Given the description of an element on the screen output the (x, y) to click on. 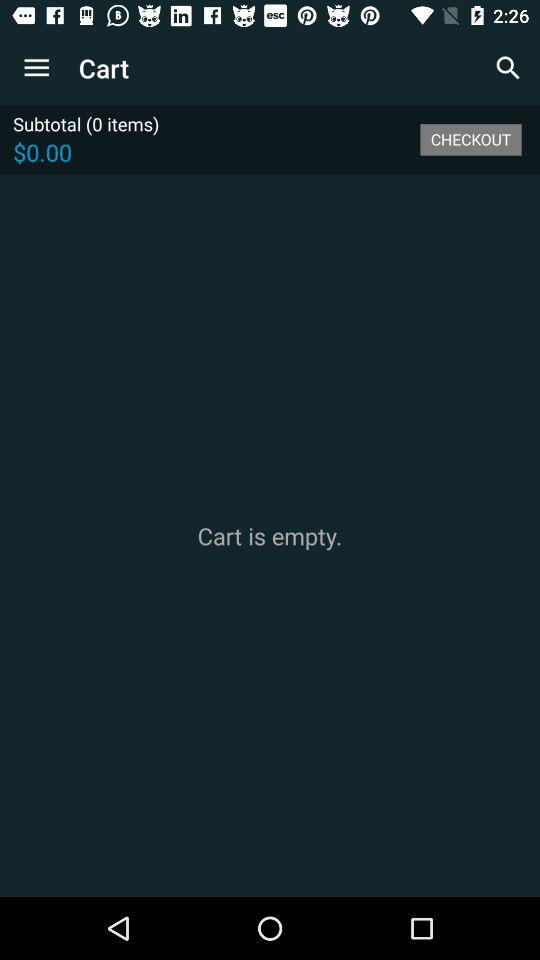
click item next to the cart item (36, 68)
